Given the description of an element on the screen output the (x, y) to click on. 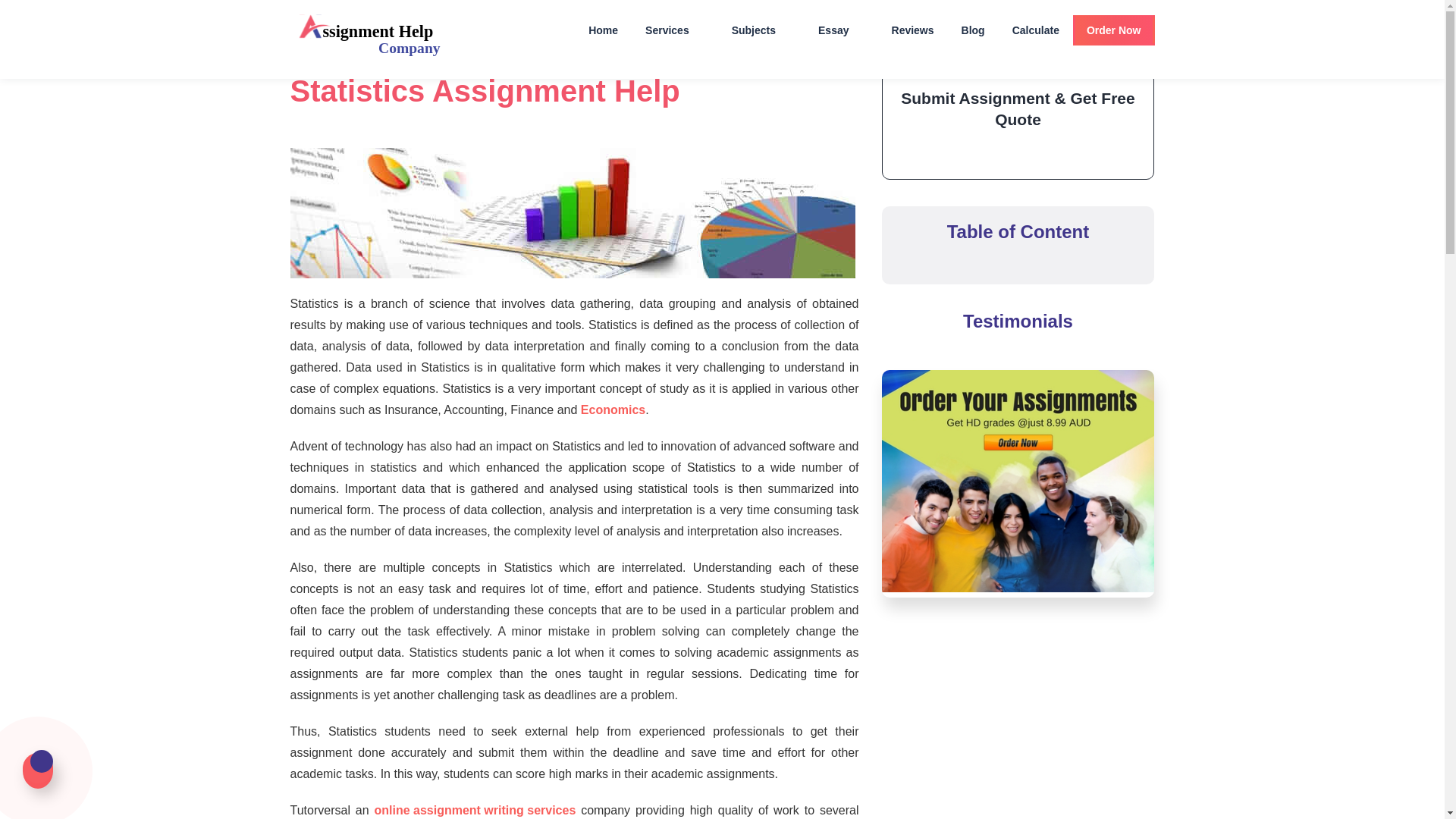
Home (603, 30)
Essay (841, 30)
Services (674, 30)
Subjects (761, 30)
